Given the description of an element on the screen output the (x, y) to click on. 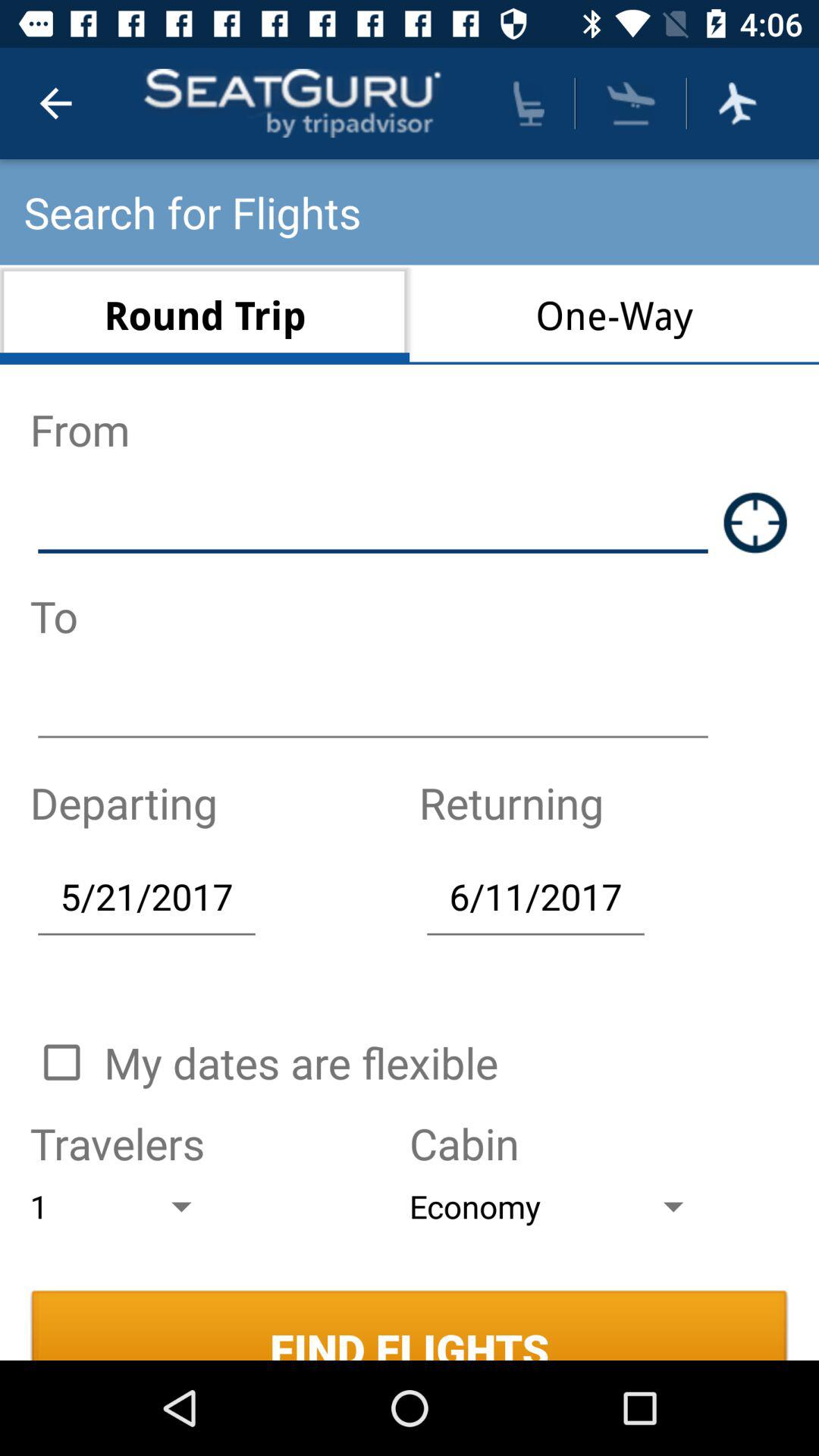
input addressee name (373, 708)
